Given the description of an element on the screen output the (x, y) to click on. 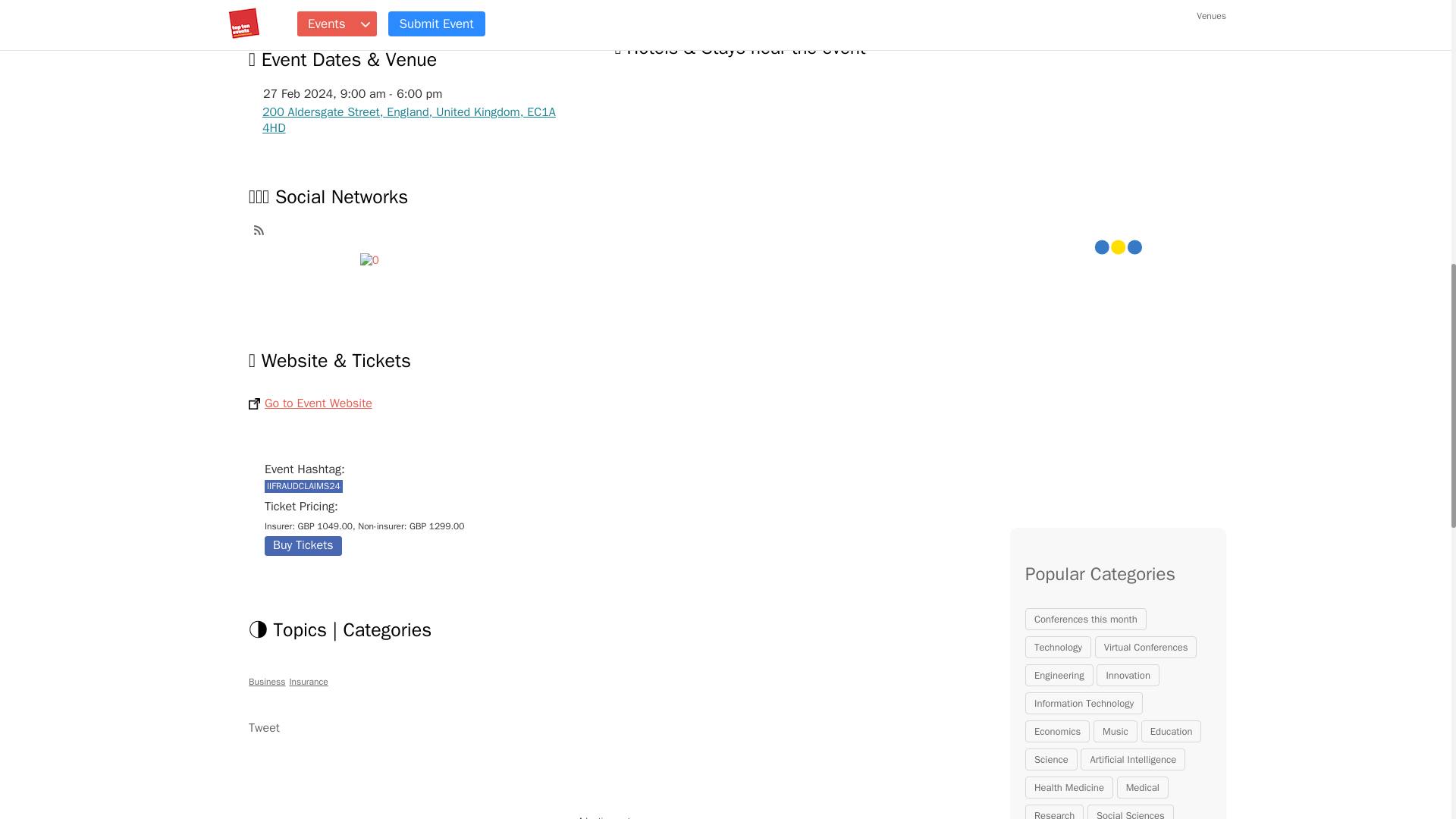
RSS feed  (257, 229)
